Given the description of an element on the screen output the (x, y) to click on. 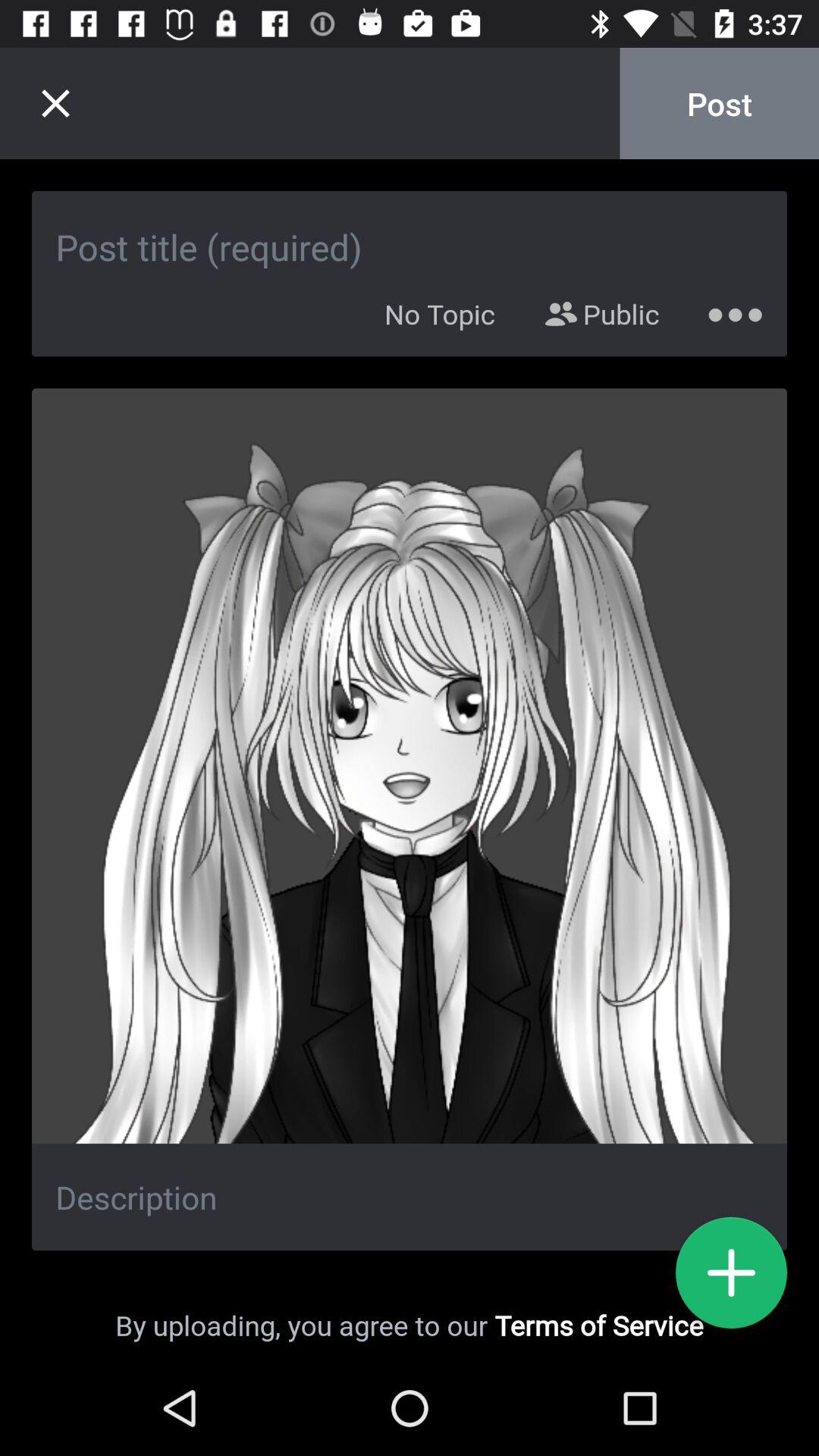
blank for writting title (409, 231)
